Given the description of an element on the screen output the (x, y) to click on. 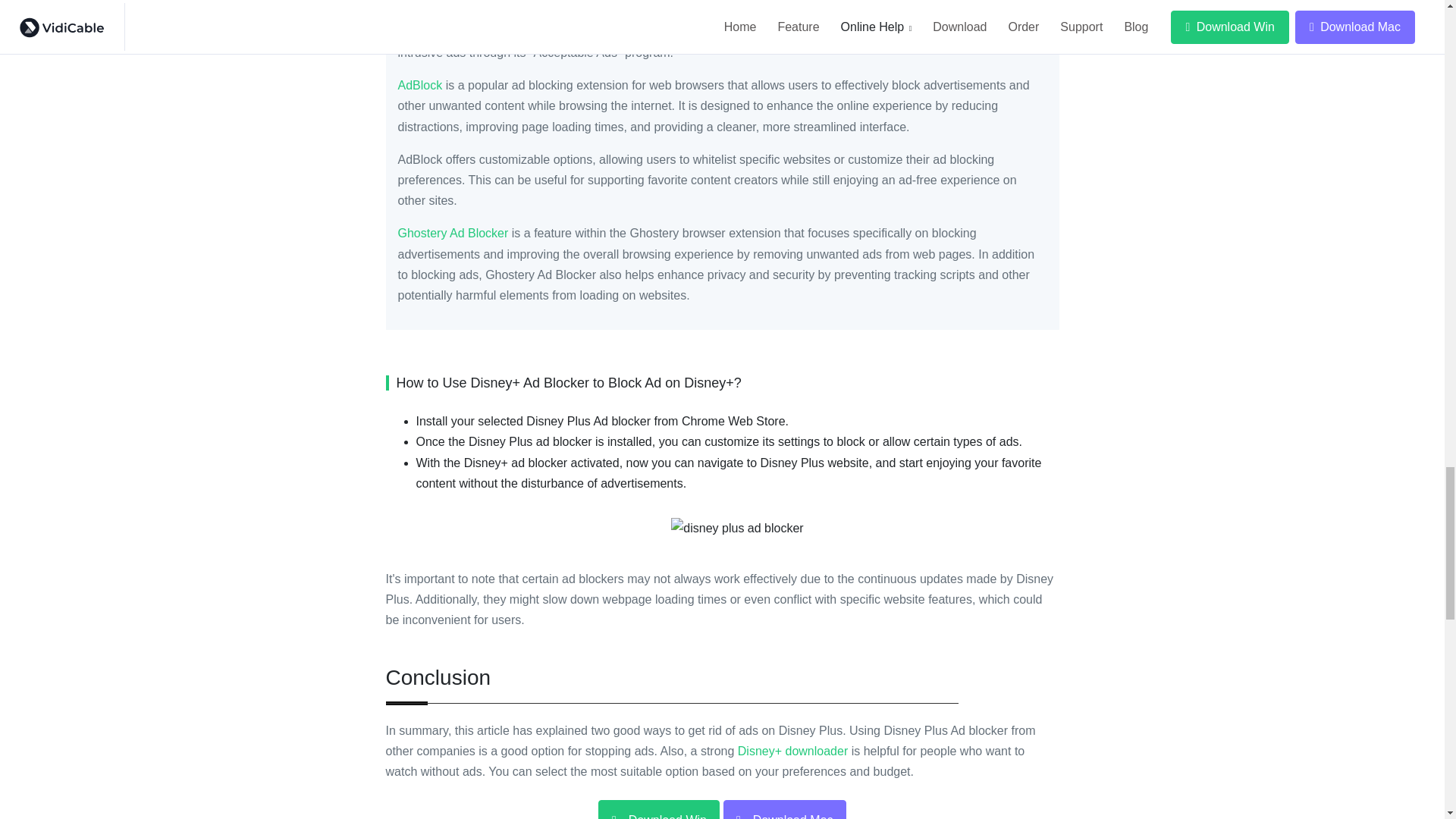
AdBlock (419, 84)
Download Win (658, 809)
Download Mac (784, 809)
AdBlock Plus (432, 11)
Ghostery Ad Blocker (452, 232)
